Given the description of an element on the screen output the (x, y) to click on. 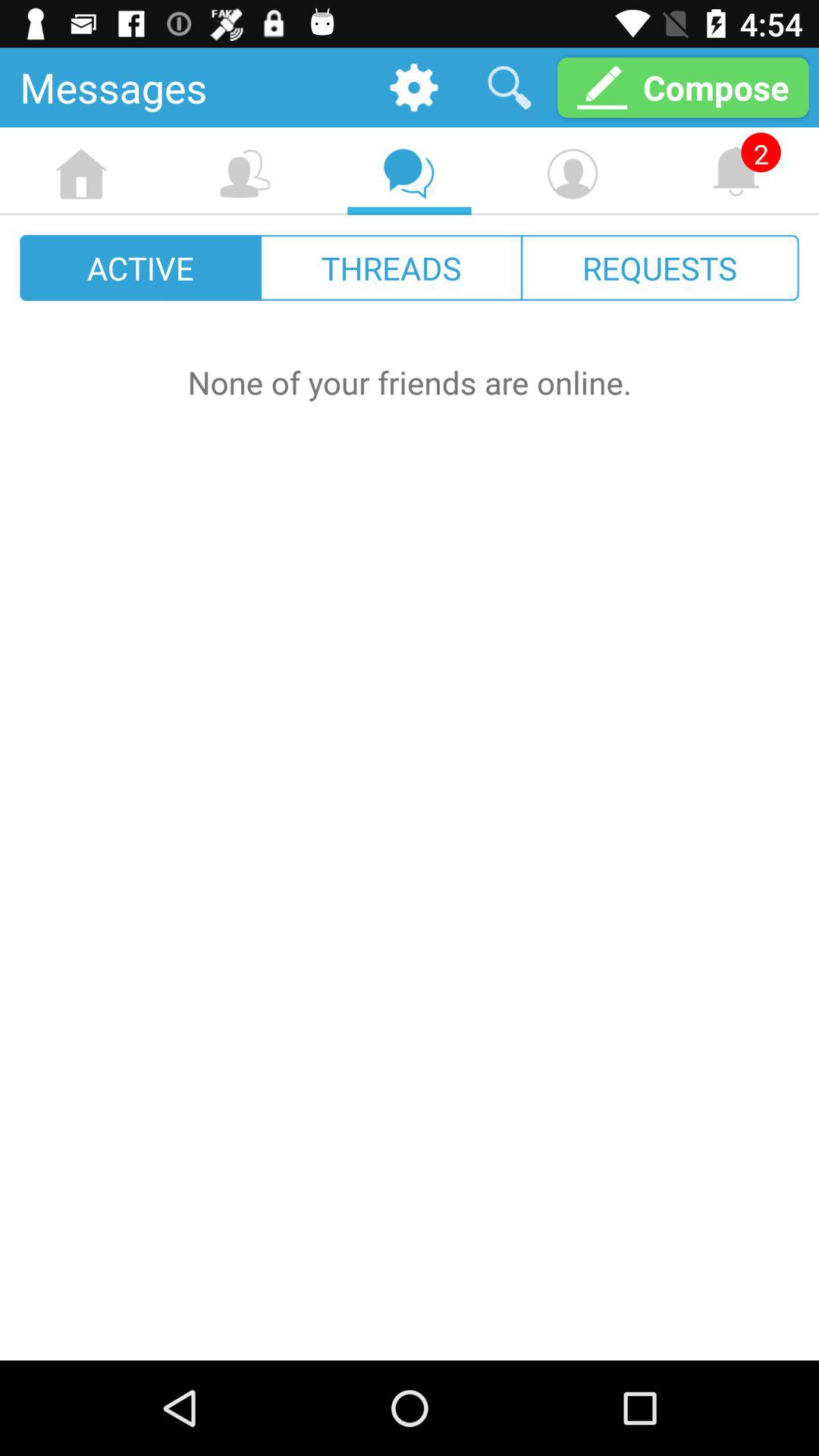
jump until the compose item (682, 87)
